Given the description of an element on the screen output the (x, y) to click on. 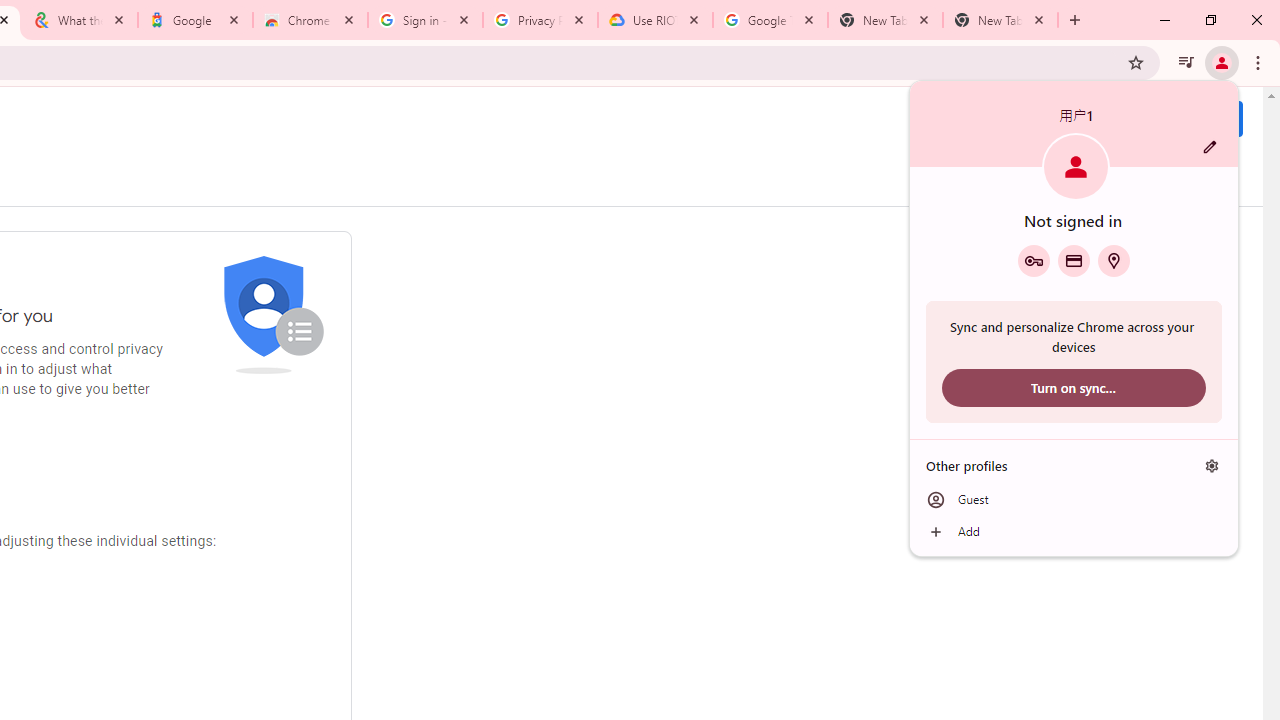
New Tab (1000, 20)
Addresses and more (1114, 260)
Add (1073, 531)
Guest (1073, 499)
